Given the description of an element on the screen output the (x, y) to click on. 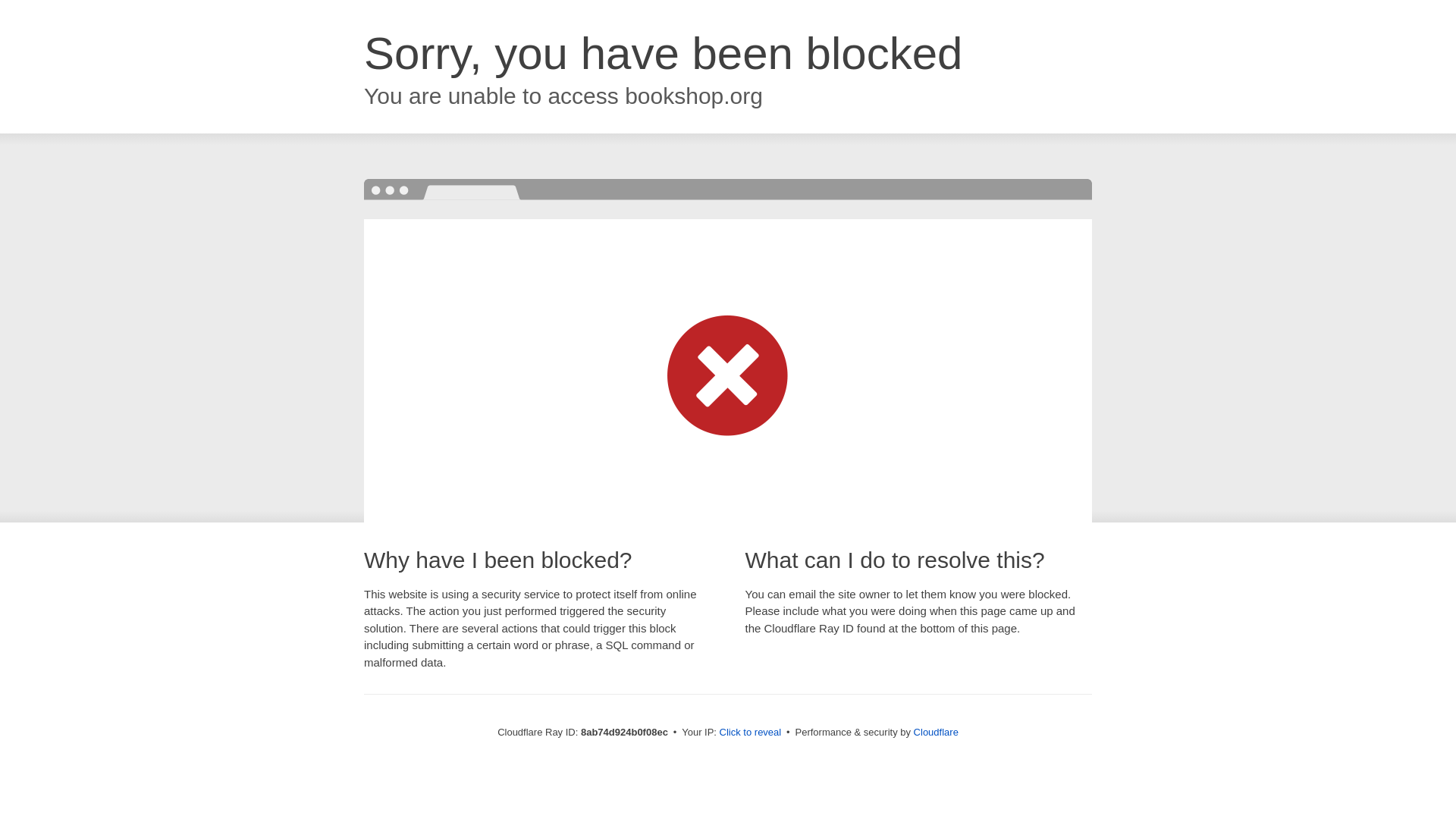
Click to reveal (750, 732)
Cloudflare (936, 731)
